Given the description of an element on the screen output the (x, y) to click on. 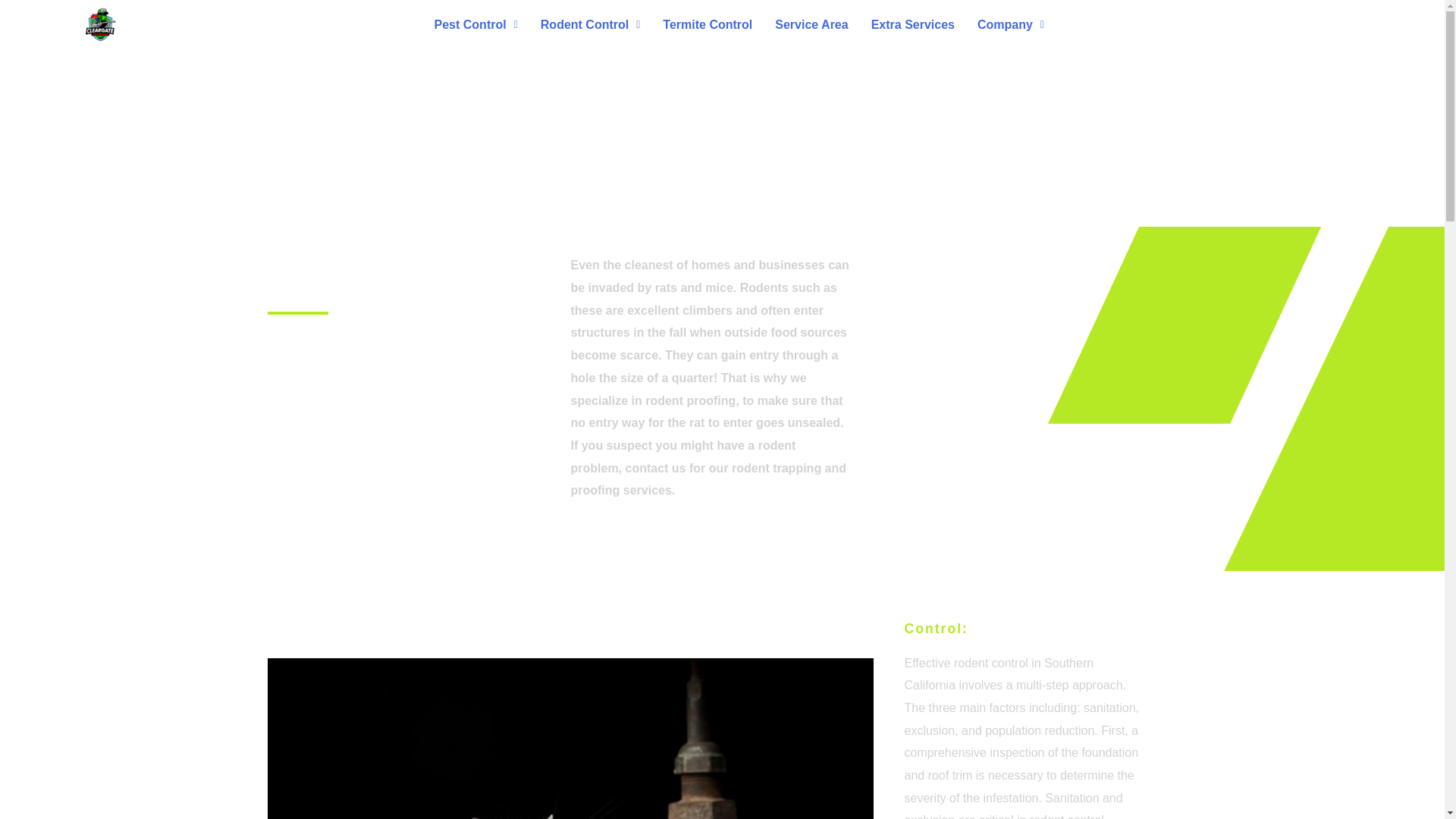
Termite Control (706, 24)
Company (1010, 24)
Service Area (810, 24)
Extra Services (913, 24)
Rodent Control (590, 24)
Pest Control (476, 24)
